Given the description of an element on the screen output the (x, y) to click on. 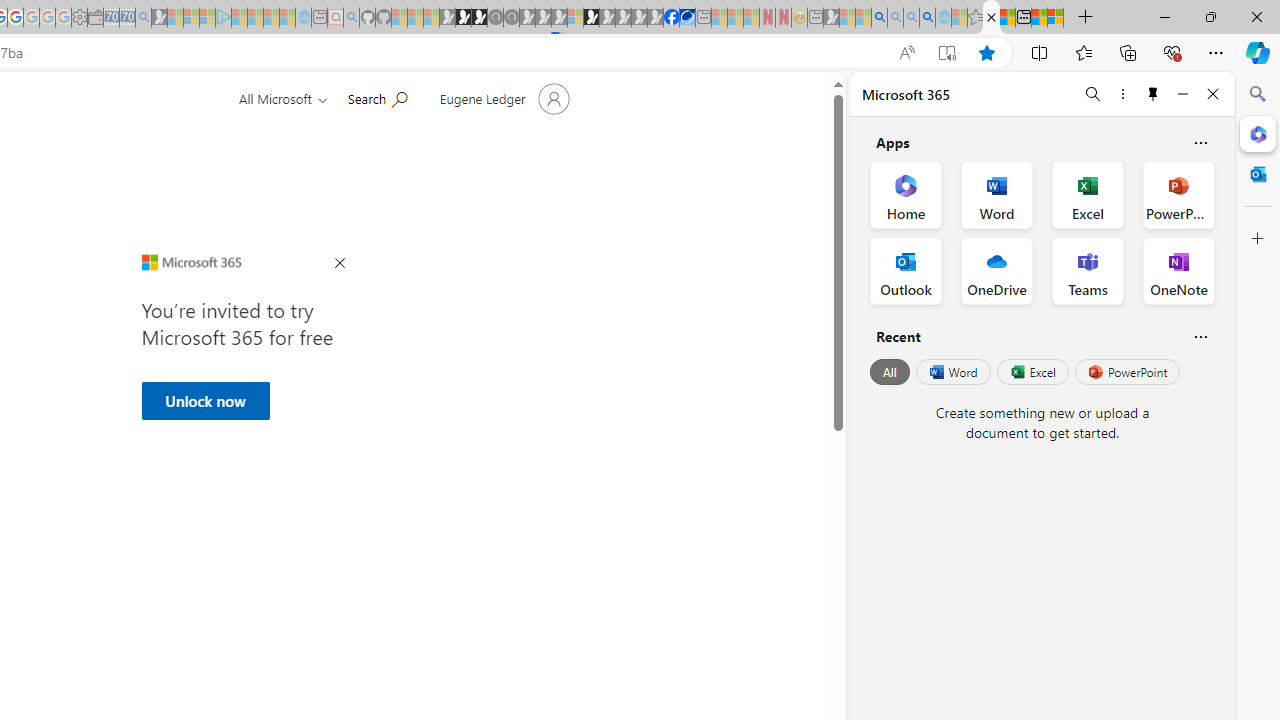
Is this helpful? (1200, 336)
Google Chrome Internet Browser Download - Search Images (927, 17)
More options (1122, 93)
